Given the description of an element on the screen output the (x, y) to click on. 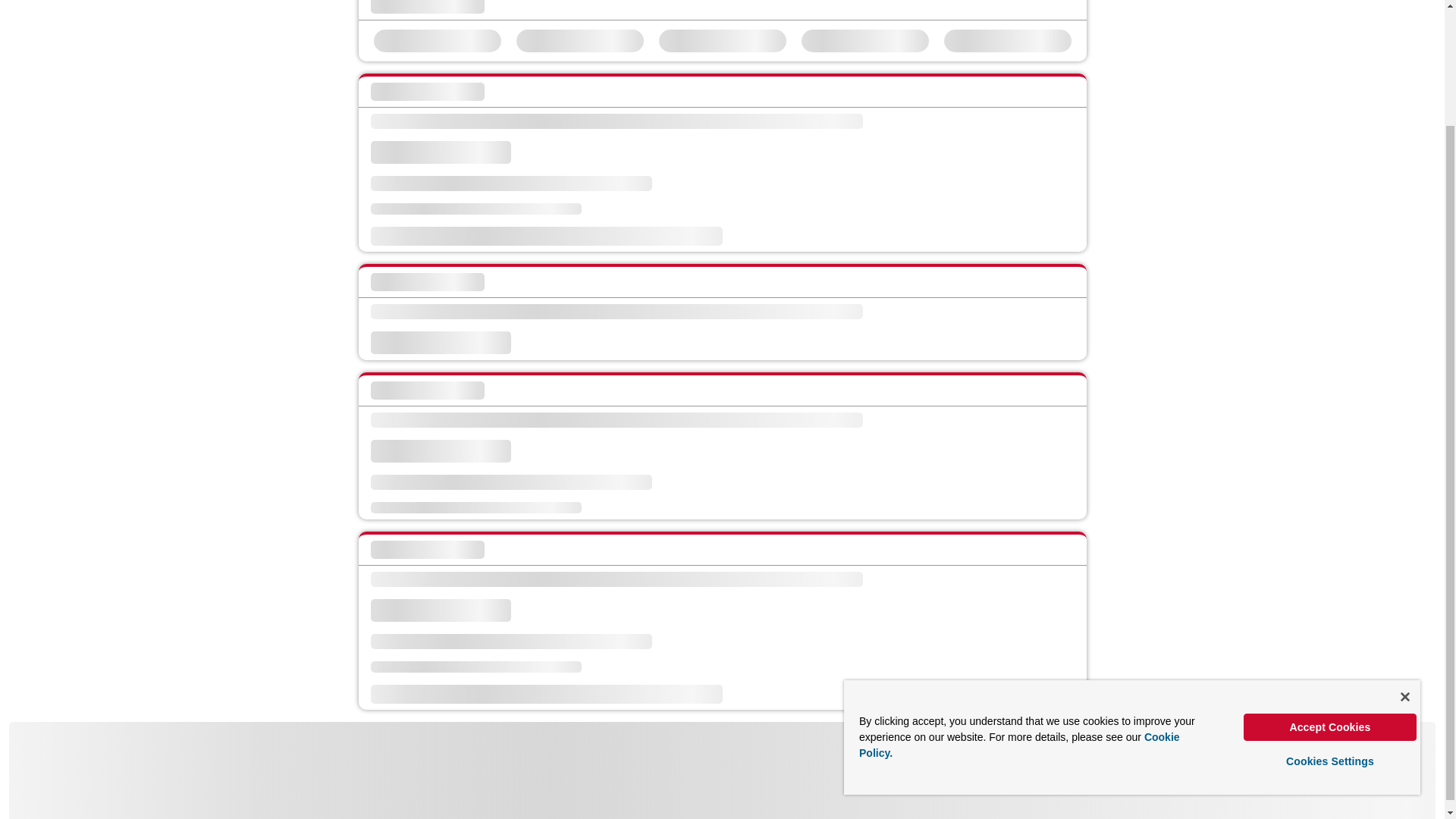
Cookie Policy. (1019, 605)
Cookies Settings (1329, 621)
Accept Cookies (1329, 587)
